Given the description of an element on the screen output the (x, y) to click on. 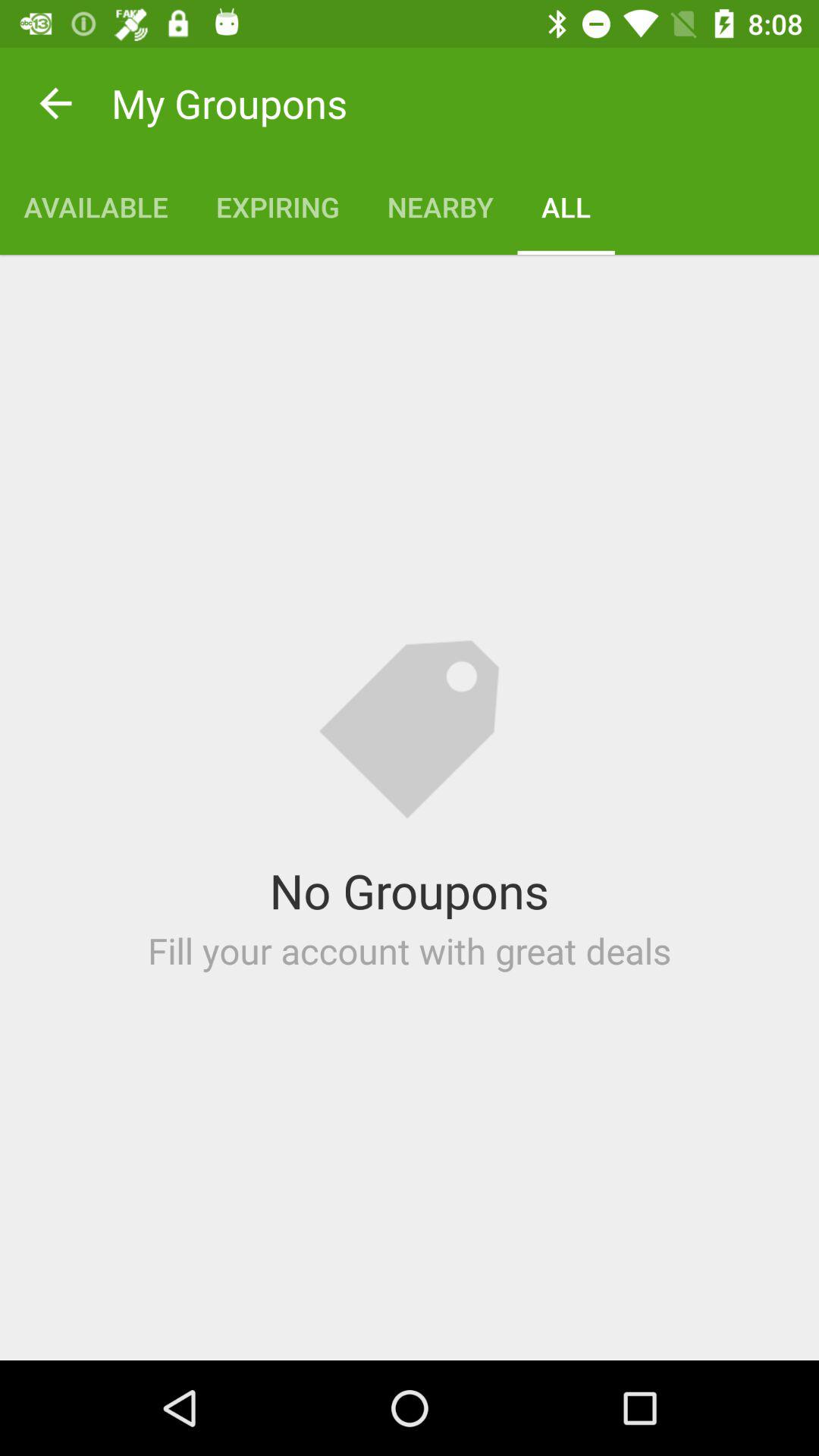
turn off the item to the left of nearby app (277, 206)
